Given the description of an element on the screen output the (x, y) to click on. 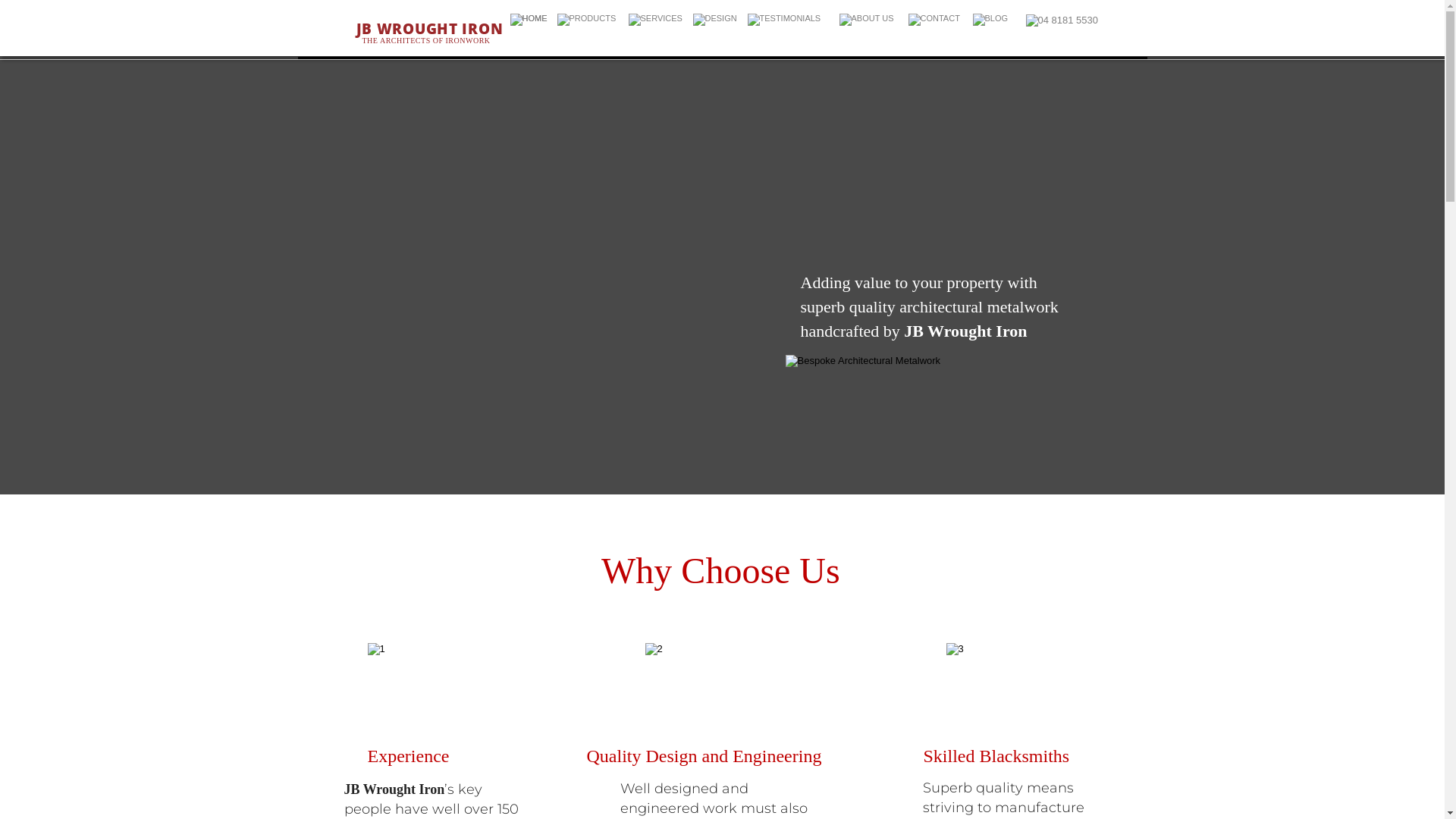
JB WROUGHT IRON Element type: text (429, 28)
